Given the description of an element on the screen output the (x, y) to click on. 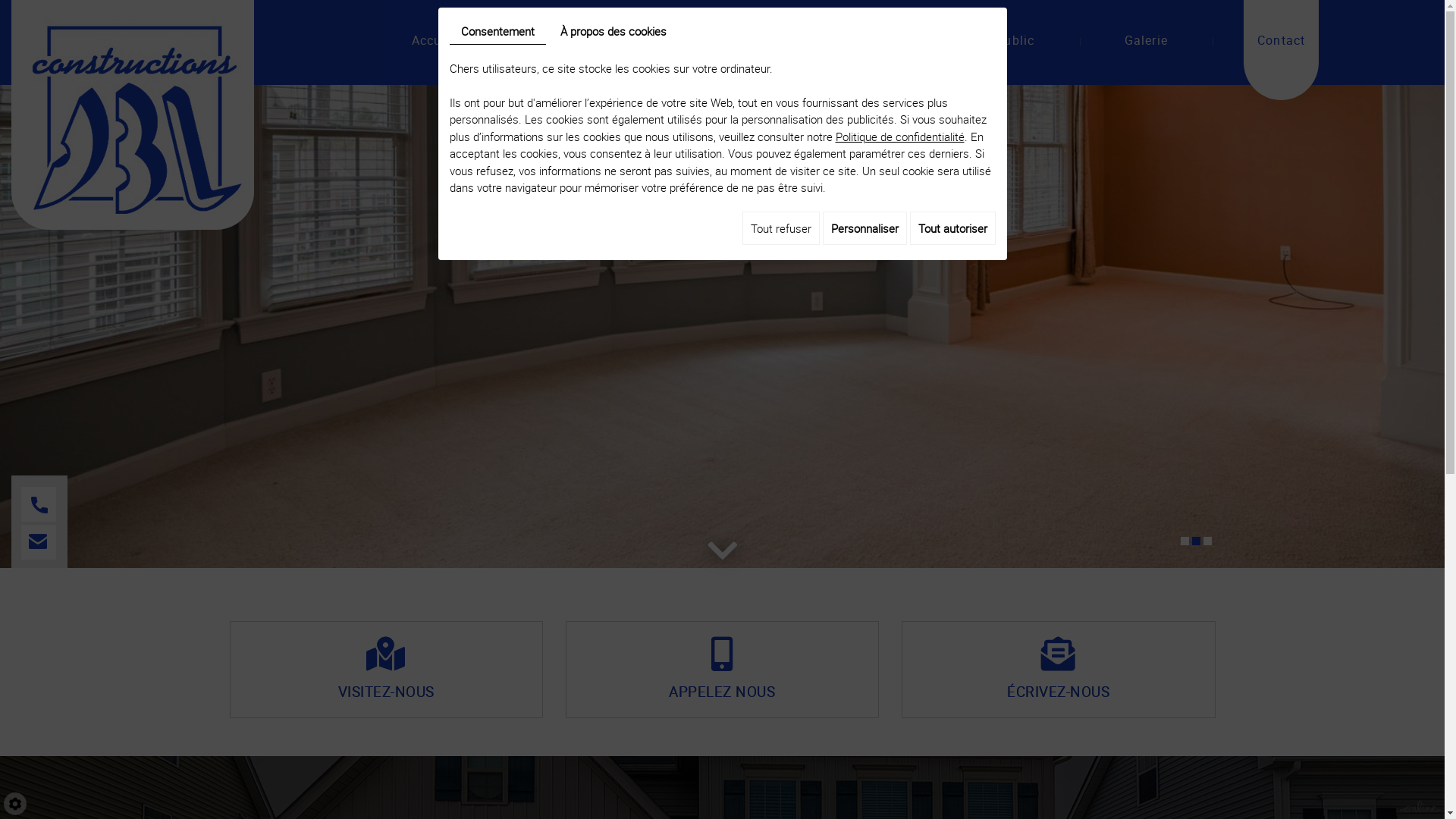
Consentement Element type: text (496, 31)
Tout refuser Element type: text (780, 227)
Nouvelles Construction Element type: text (586, 50)
Accueil Element type: text (434, 50)
Tout autoriser Element type: text (952, 227)
Personnaliser Element type: text (864, 227)
Galerie Element type: text (1145, 50)
Contact Element type: text (1280, 50)
